Given the description of an element on the screen output the (x, y) to click on. 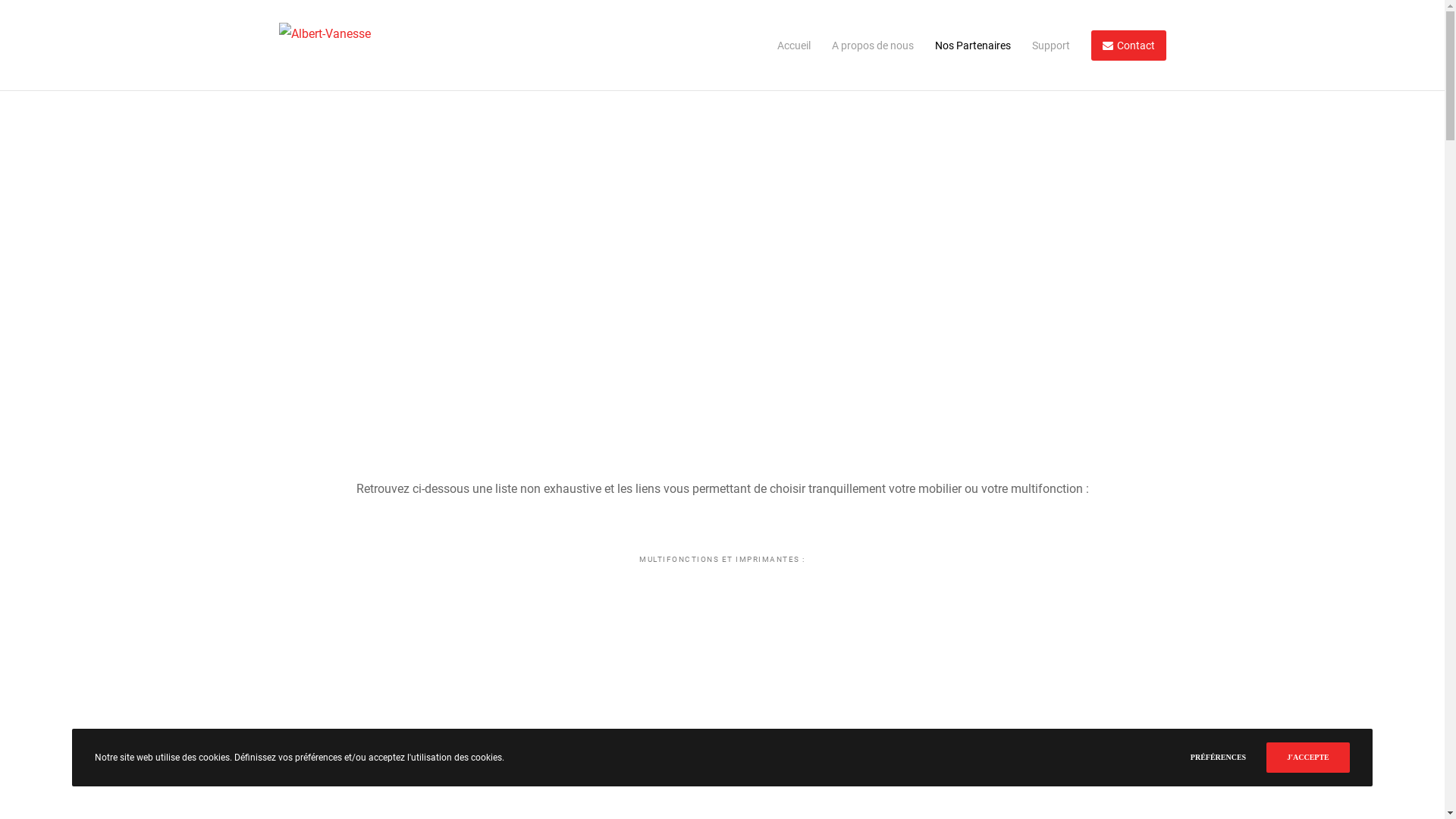
Support Element type: text (1039, 45)
Contact Element type: text (1117, 45)
A propos de nous Element type: text (861, 45)
Nos Partenaires Element type: text (961, 45)
J'ACCEPTE Element type: text (1307, 757)
Accueil Element type: text (782, 45)
